Given the description of an element on the screen output the (x, y) to click on. 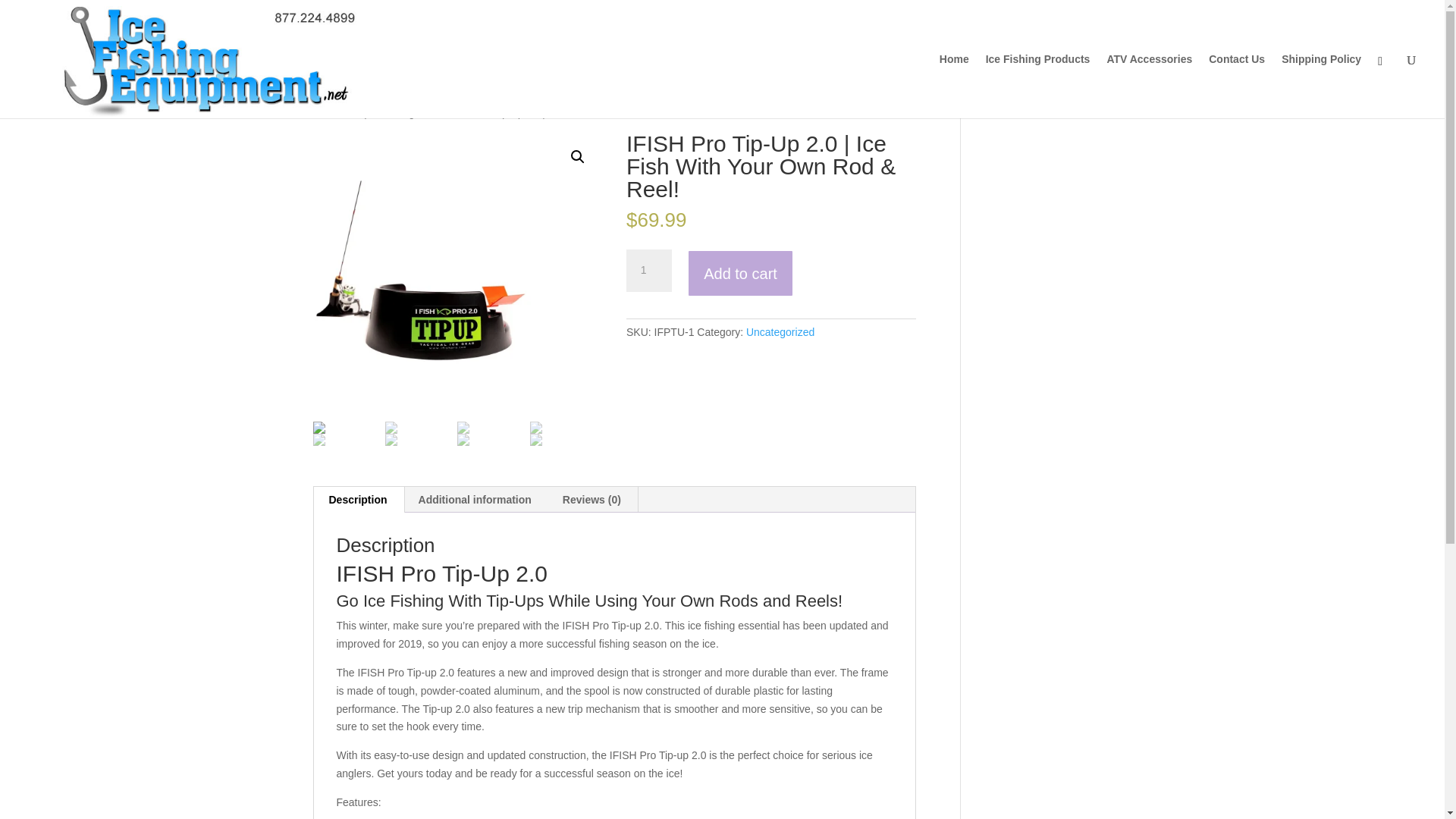
Uncategorized (779, 331)
Shipping Policy (1321, 85)
Ice Fishing Products (1037, 85)
Home (325, 112)
ATV Accessories (1149, 85)
Shop (358, 112)
04023228040 (457, 277)
Description (358, 499)
Uncategorized (409, 112)
Additional information (474, 499)
1 (648, 270)
Add to cart (740, 273)
